Given the description of an element on the screen output the (x, y) to click on. 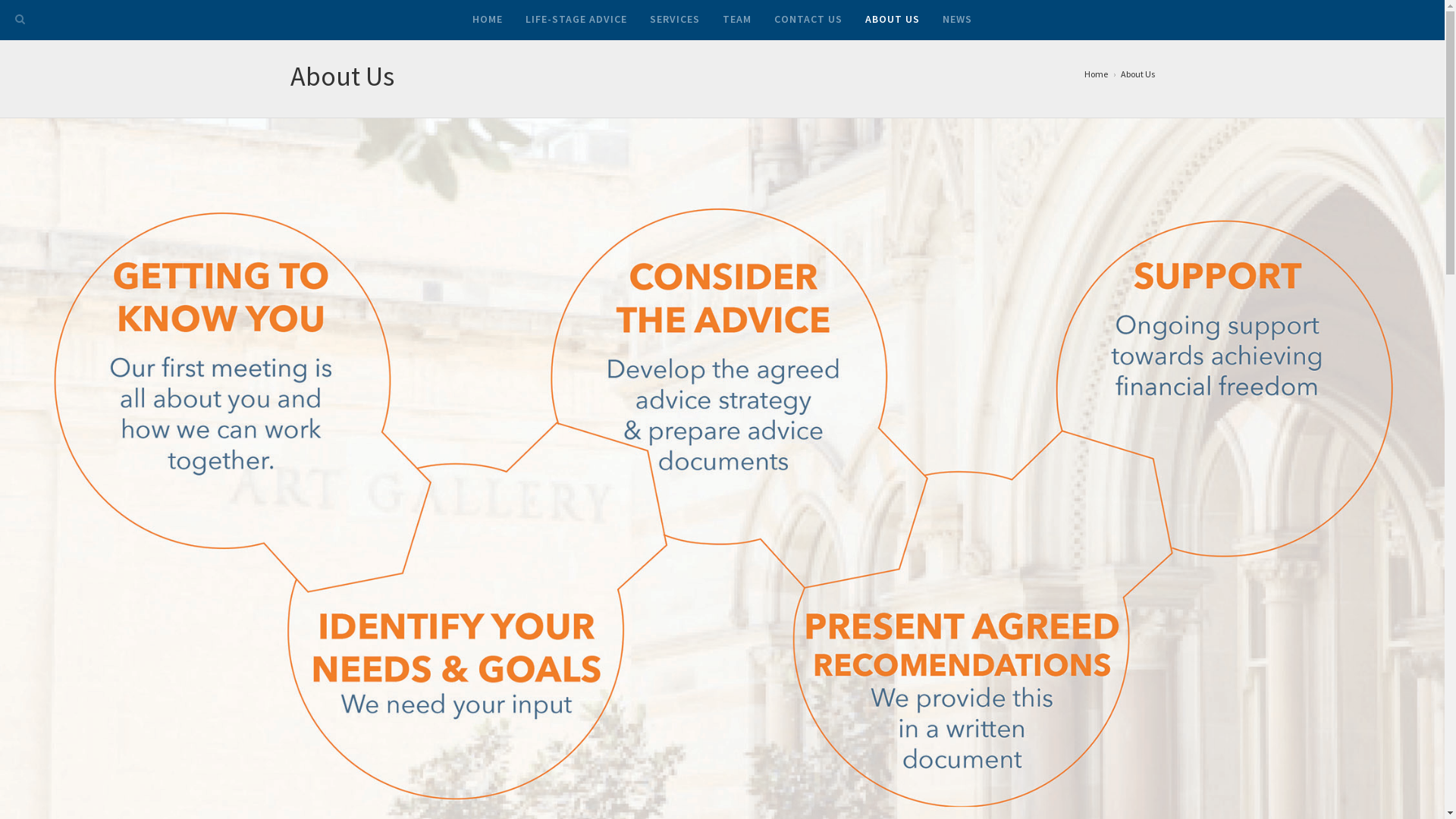
HOME Element type: text (487, 20)
ABOUT US Element type: text (892, 20)
SERVICES Element type: text (674, 20)
CONTACT US Element type: text (807, 20)
TEAM Element type: text (736, 20)
LIFE-STAGE ADVICE Element type: text (576, 20)
Home Element type: text (1095, 73)
NEWS Element type: text (957, 20)
